Given the description of an element on the screen output the (x, y) to click on. 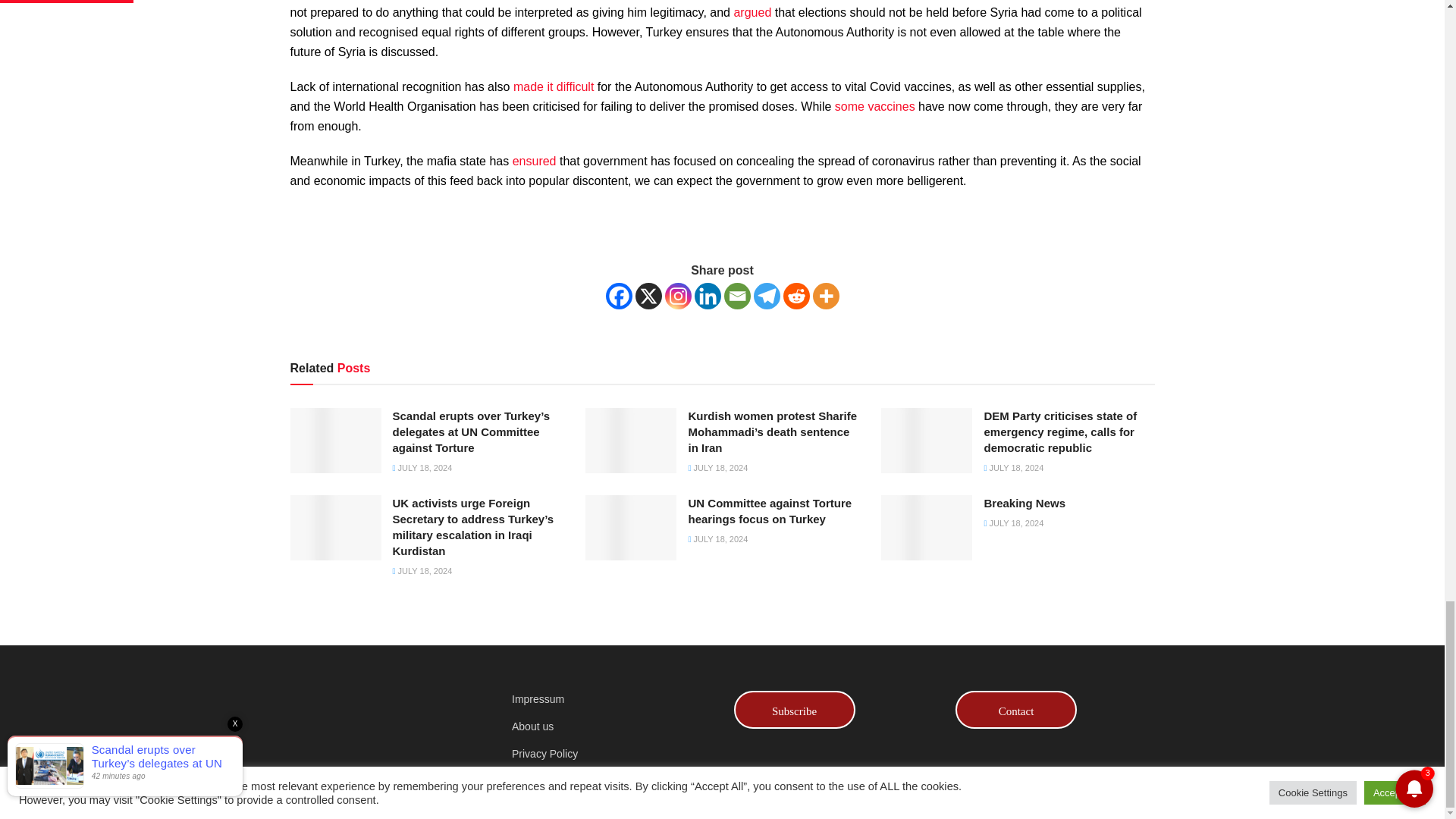
Facebook (618, 295)
Instagram (676, 295)
Linkedin (707, 295)
X (648, 295)
Telegram (767, 295)
Email (736, 295)
